Given the description of an element on the screen output the (x, y) to click on. 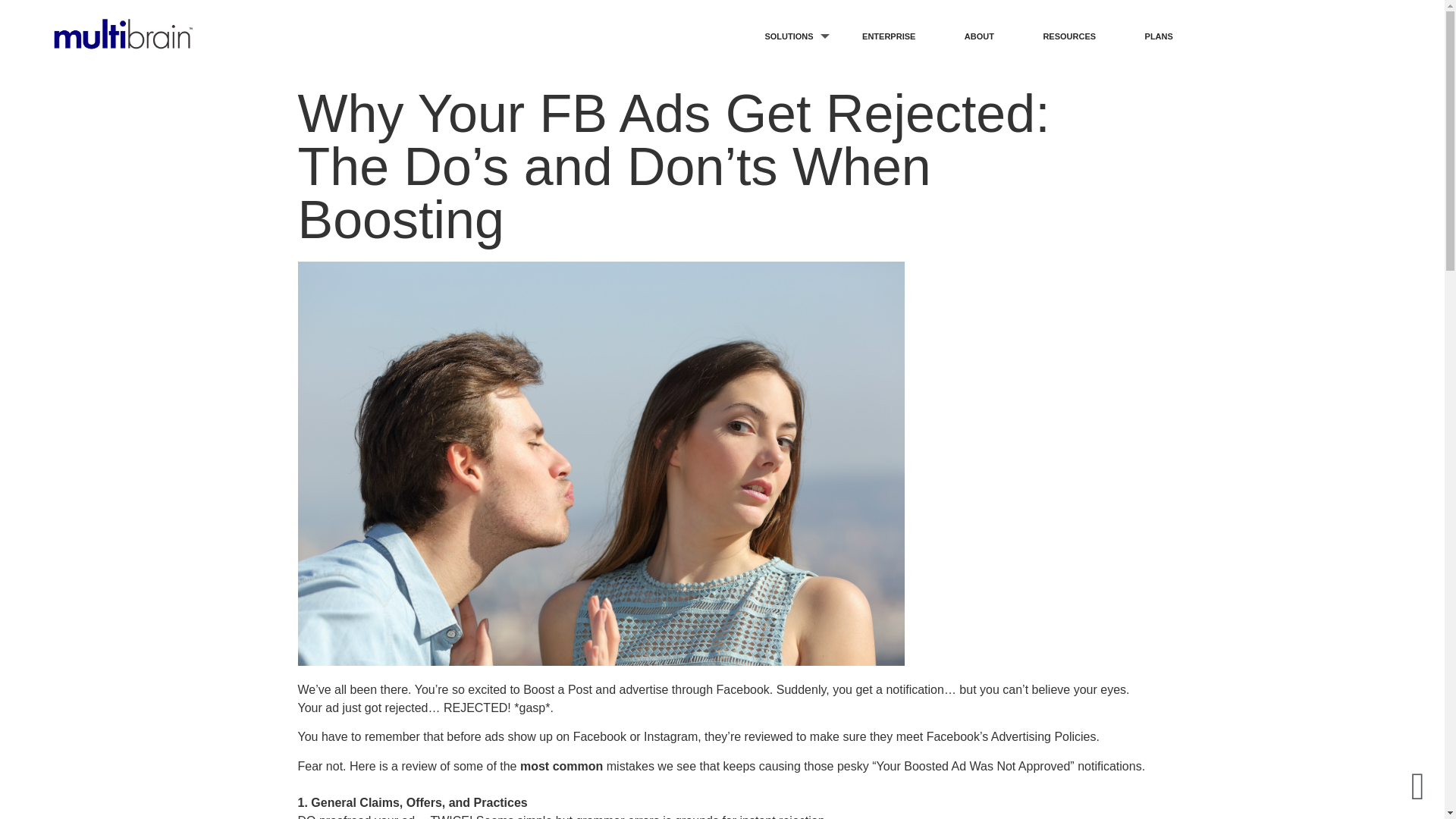
ABOUT (979, 37)
RESOURCES (1068, 37)
PLANS (1159, 37)
SOLUTIONS (788, 36)
ENTERPRISE (888, 37)
